Given the description of an element on the screen output the (x, y) to click on. 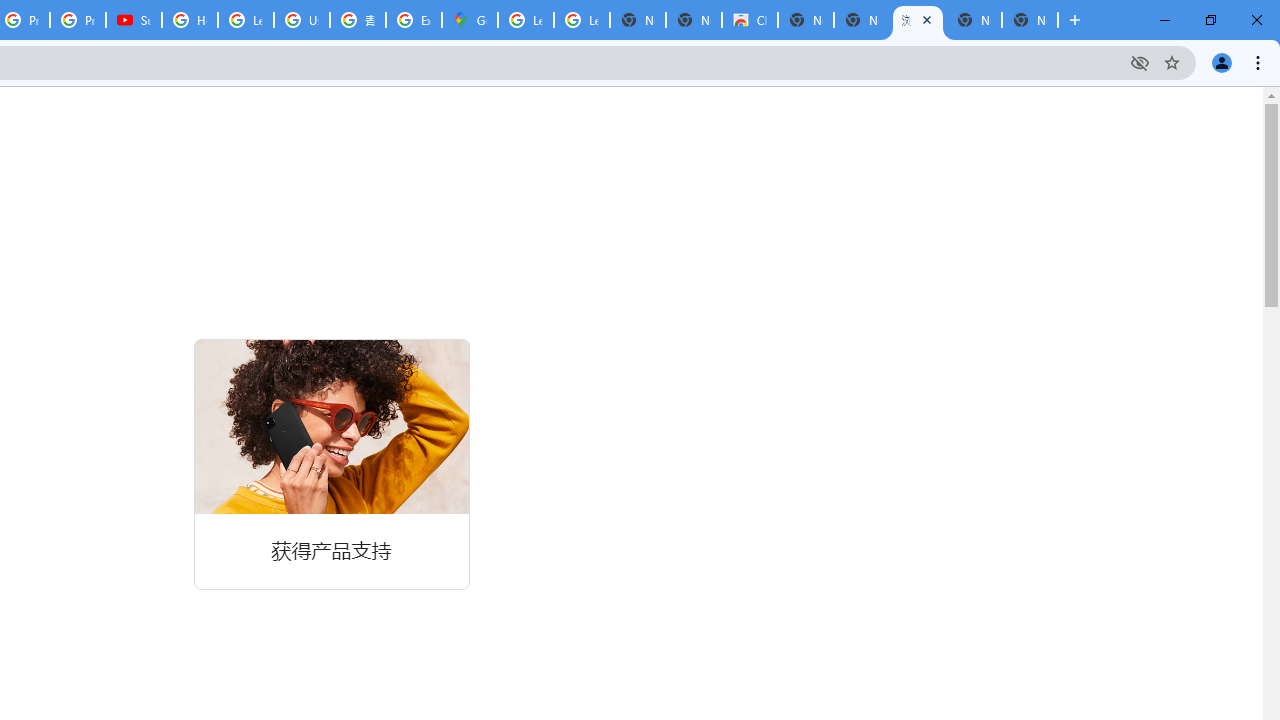
Subscriptions - YouTube (134, 20)
Google Maps (469, 20)
Chrome Web Store (749, 20)
